Given the description of an element on the screen output the (x, y) to click on. 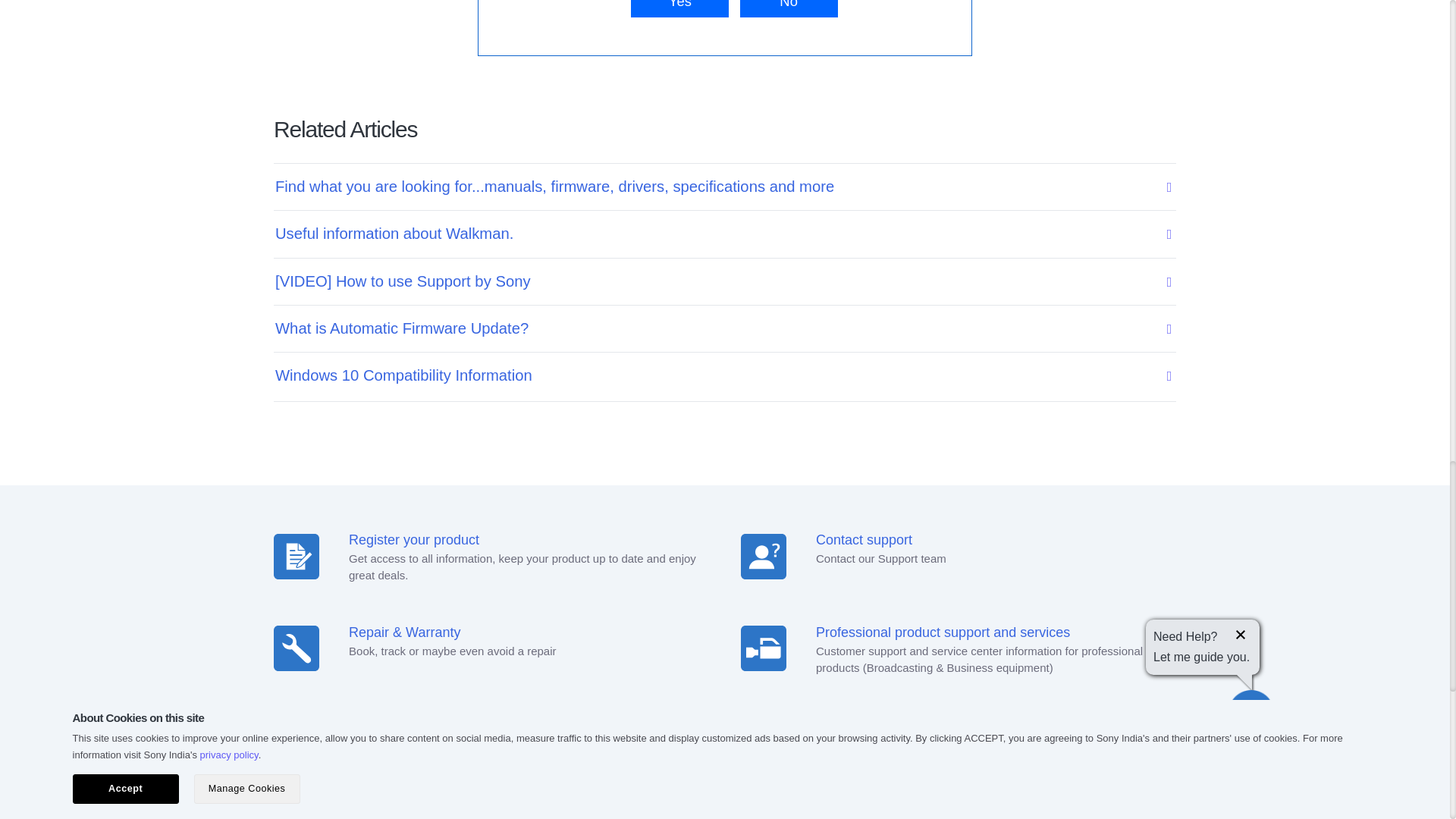
nntnnnttnn (763, 647)
